Given the description of an element on the screen output the (x, y) to click on. 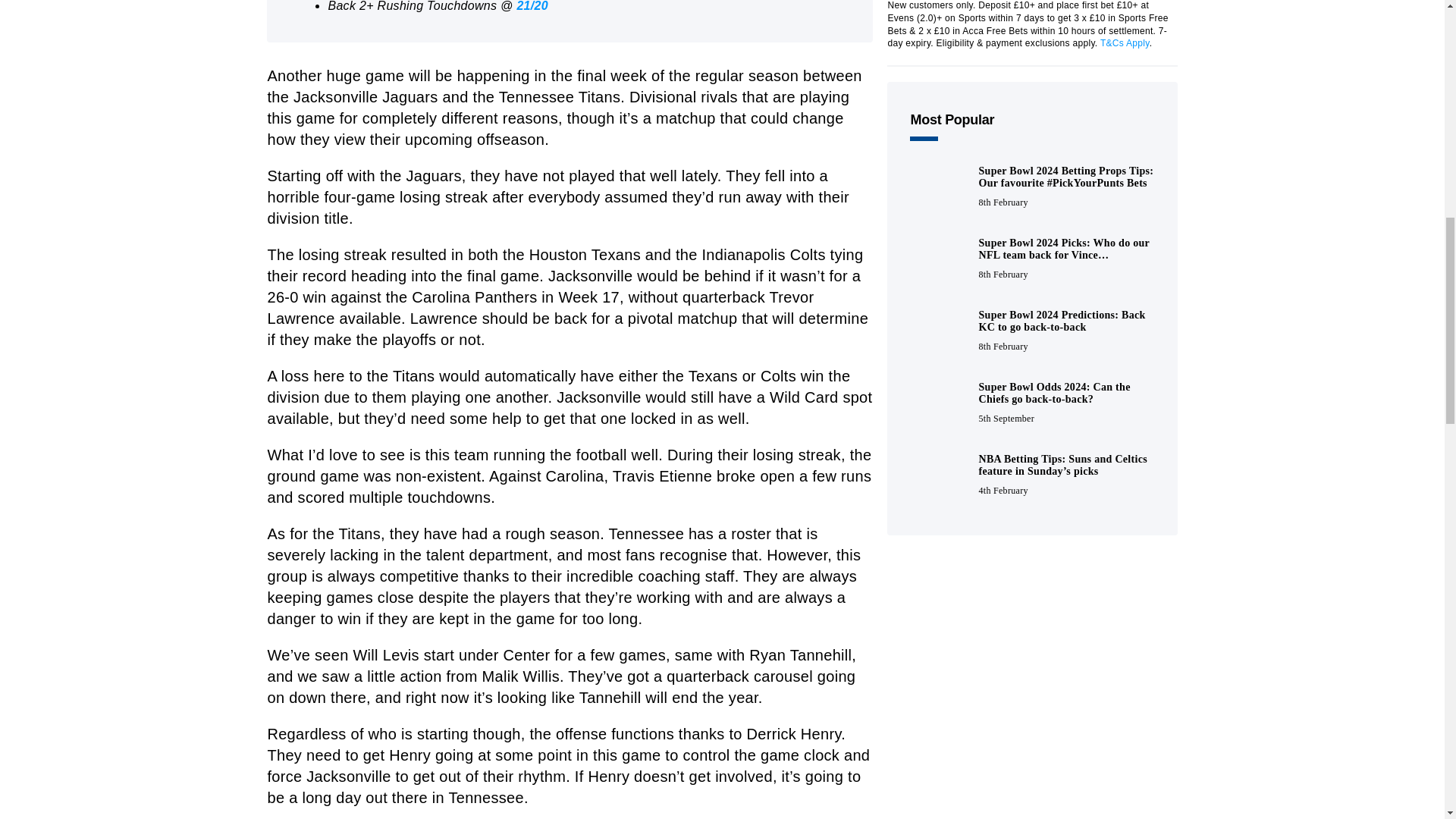
Super Bowl Odds 2024: Can the Chiefs go back-to-back? (938, 404)
NBA Betting Tips: Suns and Celtics feature in Sunday's picks (938, 476)
Super Bowl 2024 Predictions: Back KC to go back-to-back (938, 332)
